Given the description of an element on the screen output the (x, y) to click on. 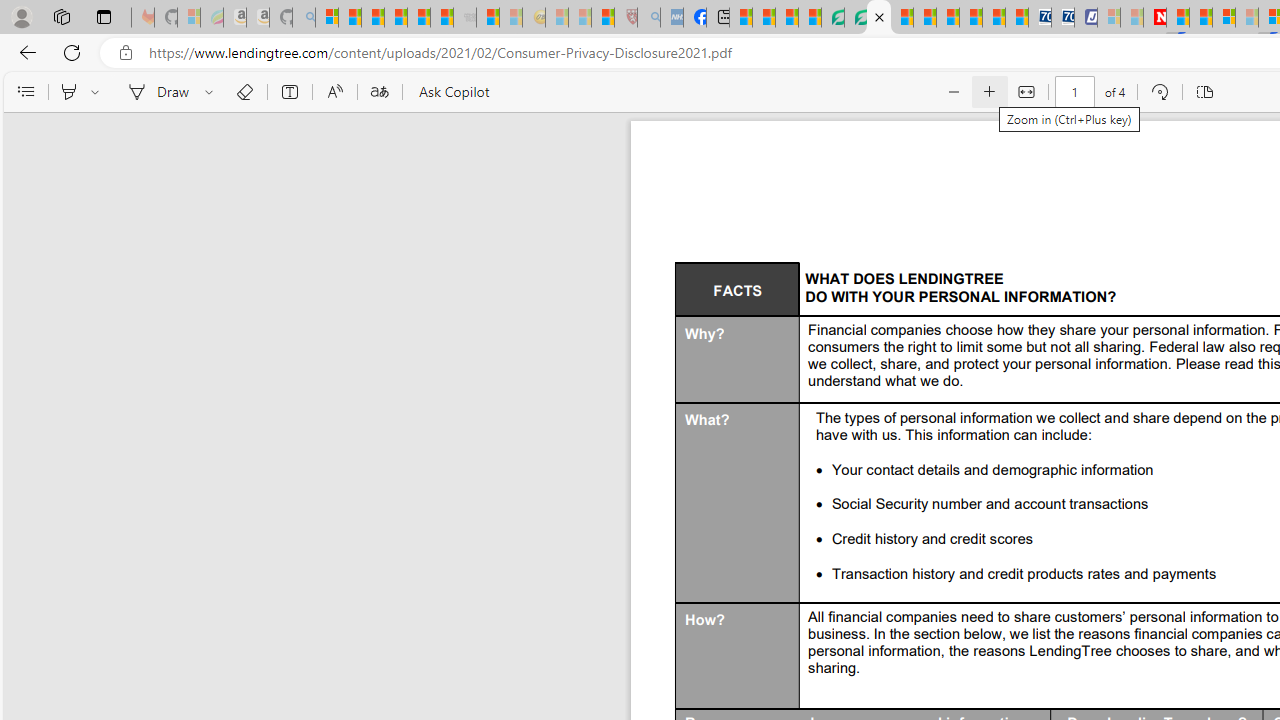
New Report Confirms 2023 Was Record Hot | Watch (419, 17)
Cheap Hotels - Save70.com (1062, 17)
Microsoft Word - consumer-privacy address update 2.2021 (878, 17)
LendingTree - Compare Lenders (832, 17)
Erase (244, 92)
Highlight (68, 92)
